Given the description of an element on the screen output the (x, y) to click on. 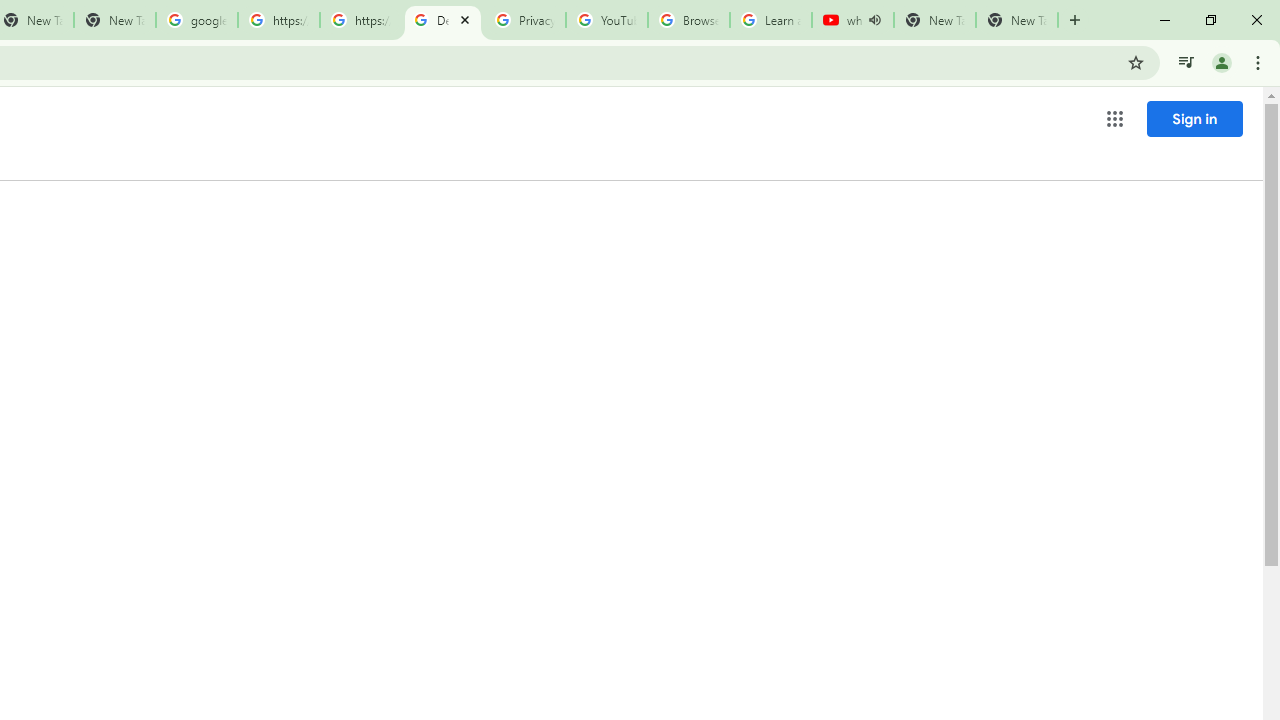
Browse Chrome as a guest - Computer - Google Chrome Help (688, 20)
https://scholar.google.com/ (360, 20)
